Given the description of an element on the screen output the (x, y) to click on. 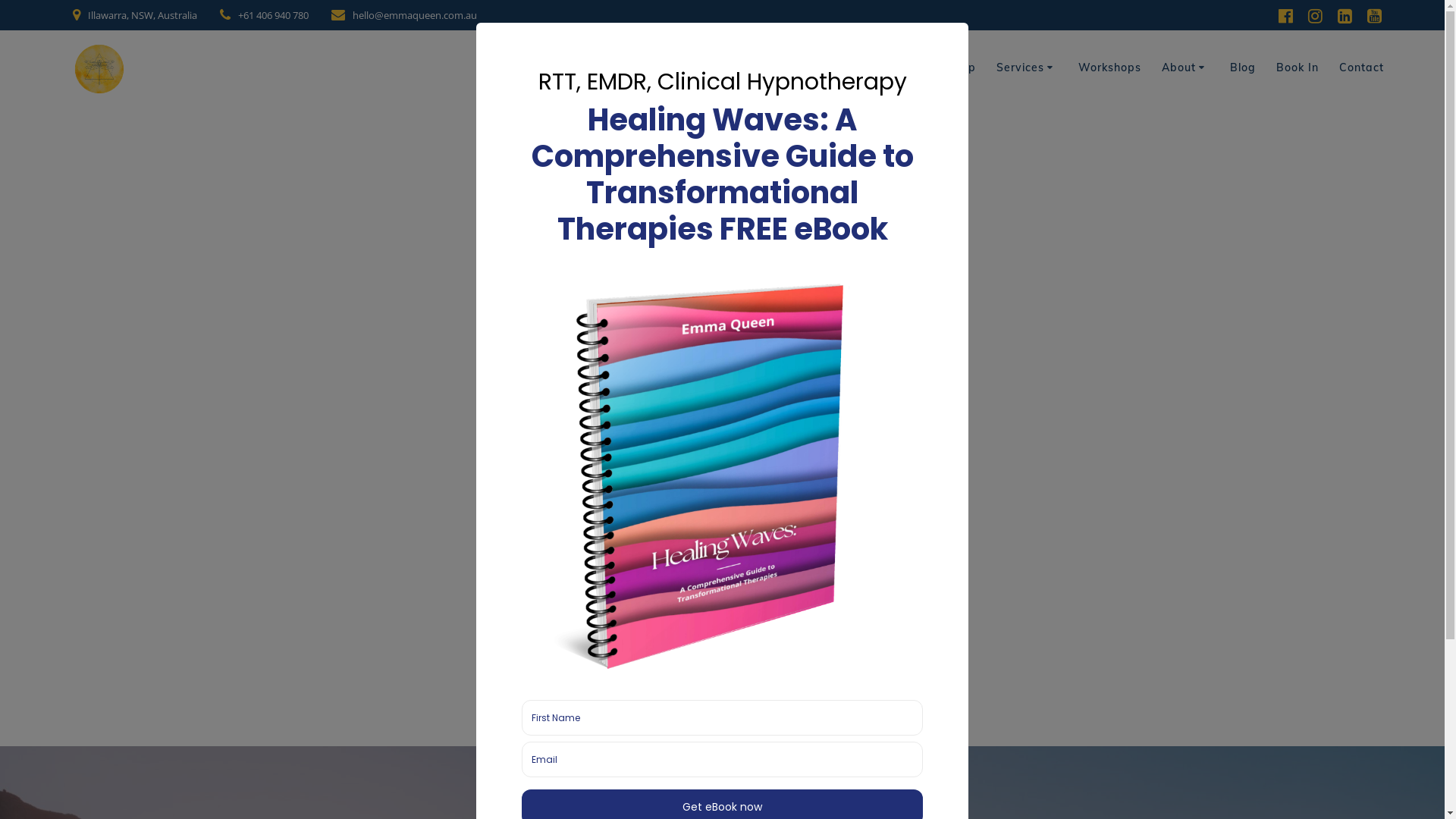
Blog Element type: text (1242, 68)
Services Element type: text (1026, 68)
Shop Element type: text (961, 68)
Home Element type: text (910, 68)
Workshops Element type: text (1109, 68)
About Element type: text (1185, 68)
Book In Element type: text (1297, 68)
Contact Element type: text (1361, 68)
